Given the description of an element on the screen output the (x, y) to click on. 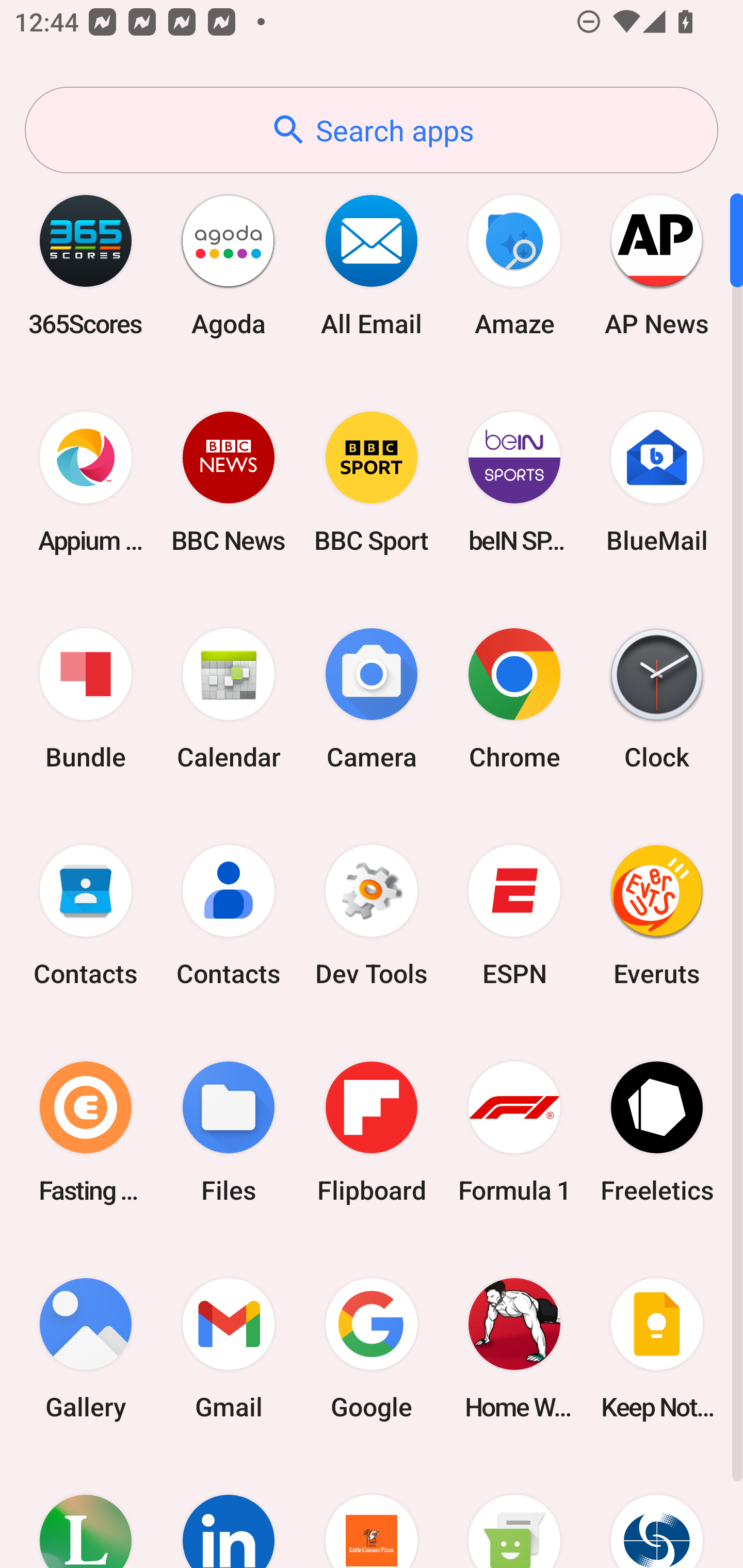
  Search apps (371, 130)
365Scores (85, 264)
Agoda (228, 264)
All Email (371, 264)
Amaze (514, 264)
AP News (656, 264)
Appium Settings (85, 482)
BBC News (228, 482)
BBC Sport (371, 482)
beIN SPORTS (514, 482)
BlueMail (656, 482)
Bundle (85, 699)
Calendar (228, 699)
Camera (371, 699)
Chrome (514, 699)
Clock (656, 699)
Contacts (85, 915)
Contacts (228, 915)
Dev Tools (371, 915)
ESPN (514, 915)
Everuts (656, 915)
Fasting Coach (85, 1131)
Files (228, 1131)
Flipboard (371, 1131)
Formula 1 (514, 1131)
Freeletics (656, 1131)
Gallery (85, 1348)
Gmail (228, 1348)
Google (371, 1348)
Home Workout (514, 1348)
Keep Notes (656, 1348)
